Given the description of an element on the screen output the (x, y) to click on. 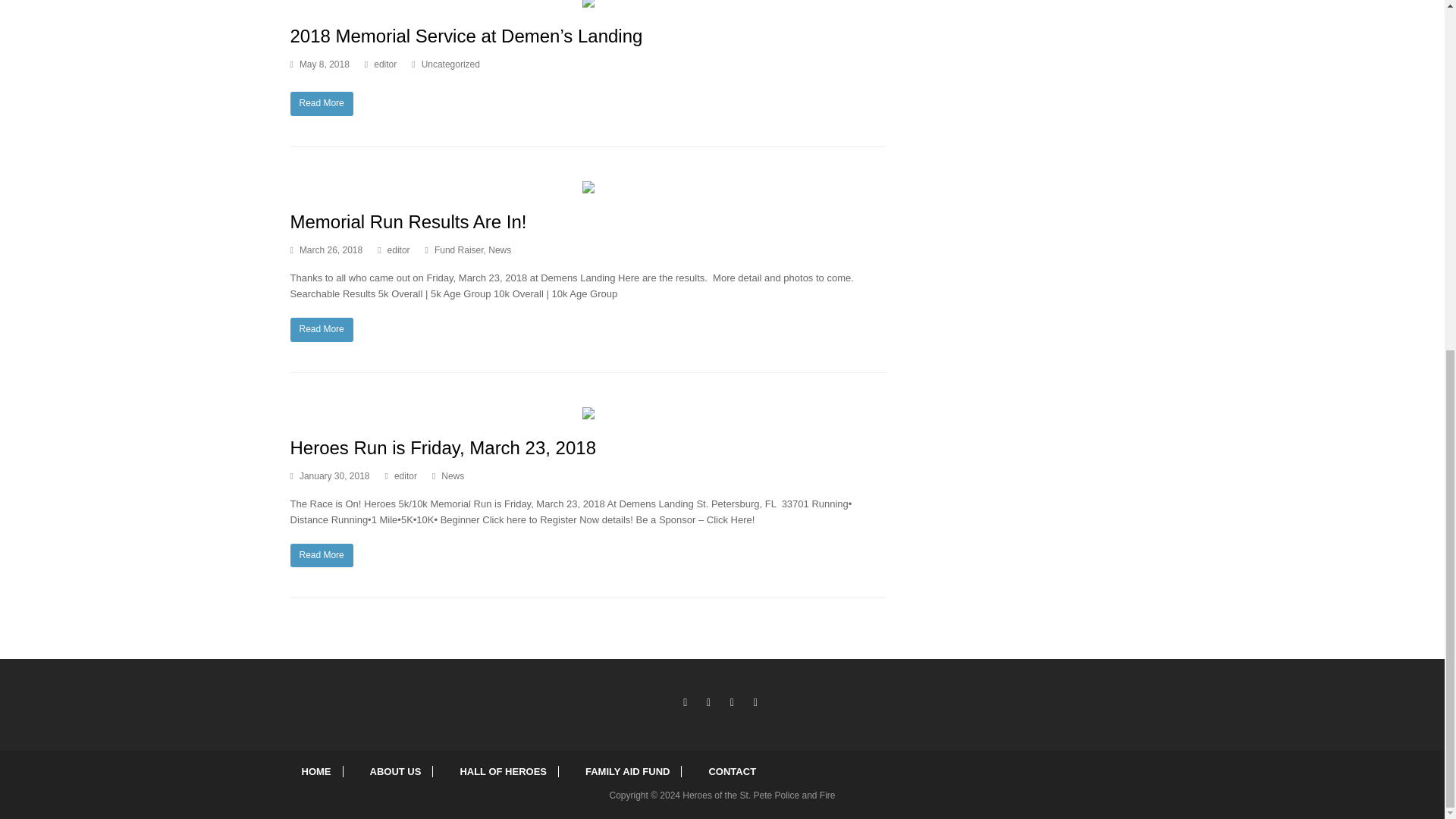
Memorial Run Results Are In! (407, 221)
Uncategorized (451, 63)
Facebook (708, 702)
Fund Raiser (458, 249)
Heroes Run is Friday, March 23, 2018 (588, 410)
News (499, 249)
Posts by editor (405, 475)
Heroes Run is Friday, March 23, 2018 (442, 447)
Read More (320, 329)
editor (405, 475)
